Given the description of an element on the screen output the (x, y) to click on. 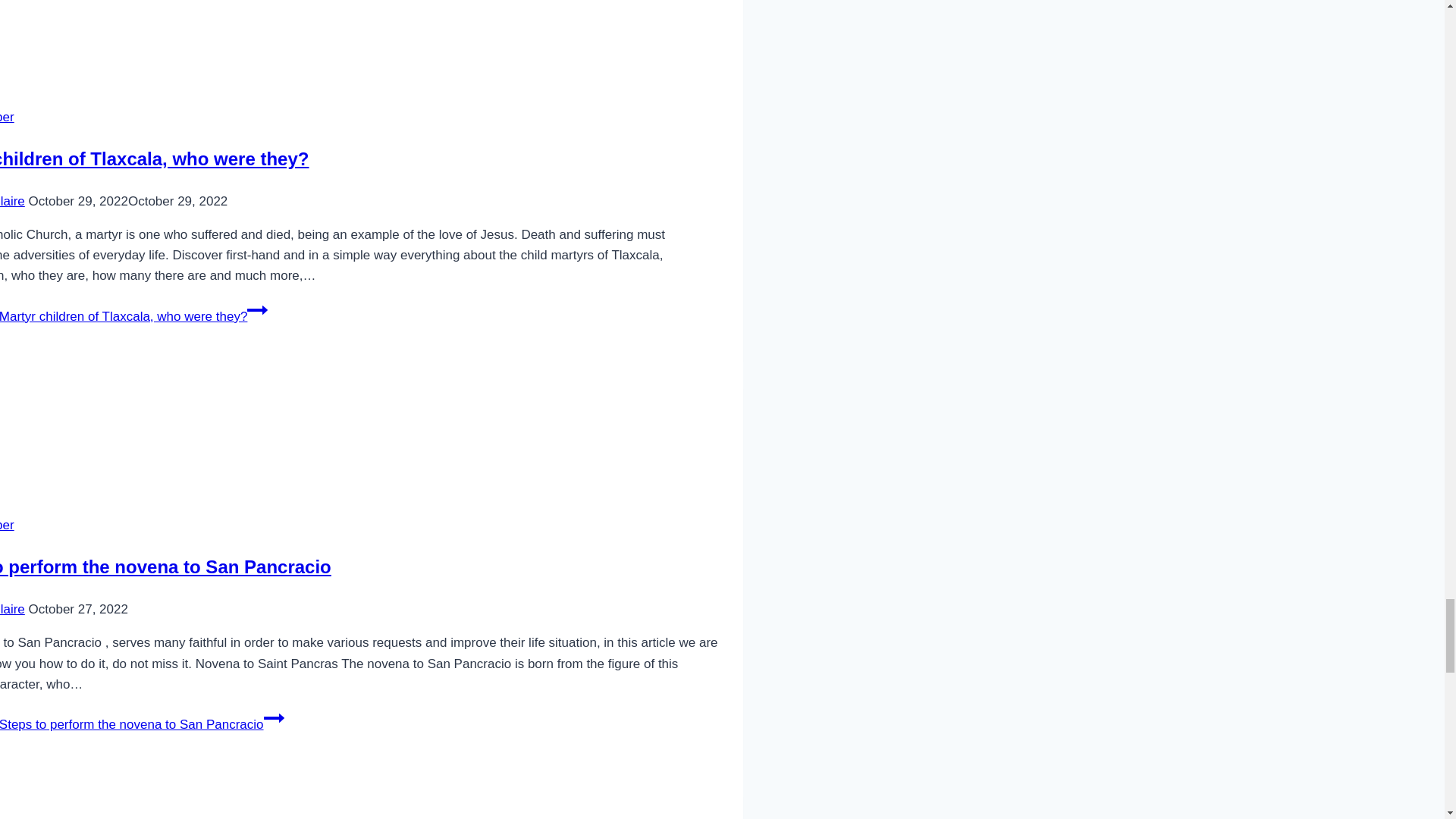
Martyr children of Tlaxcala, who were they? (154, 158)
Angel Number (7, 116)
Angel Number (7, 524)
Continue (273, 717)
Kelly D Claire (12, 608)
Kelly D Claire (12, 201)
Steps to perform the novena to San Pancracio (165, 566)
Continue (257, 310)
